Given the description of an element on the screen output the (x, y) to click on. 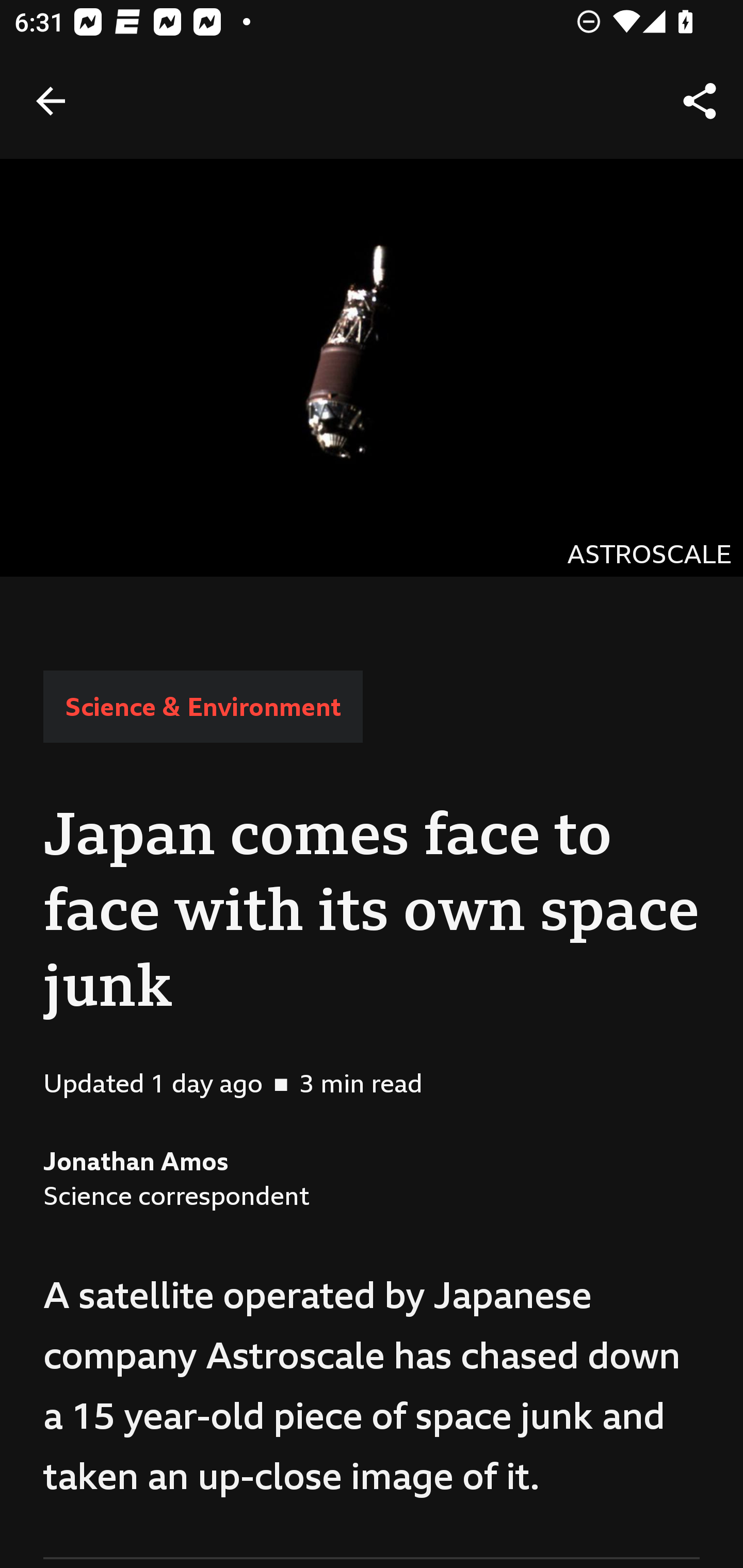
Back (50, 101)
Share (699, 101)
H-IIA rocket stage (371, 367)
Science & Environment (202, 706)
